Given the description of an element on the screen output the (x, y) to click on. 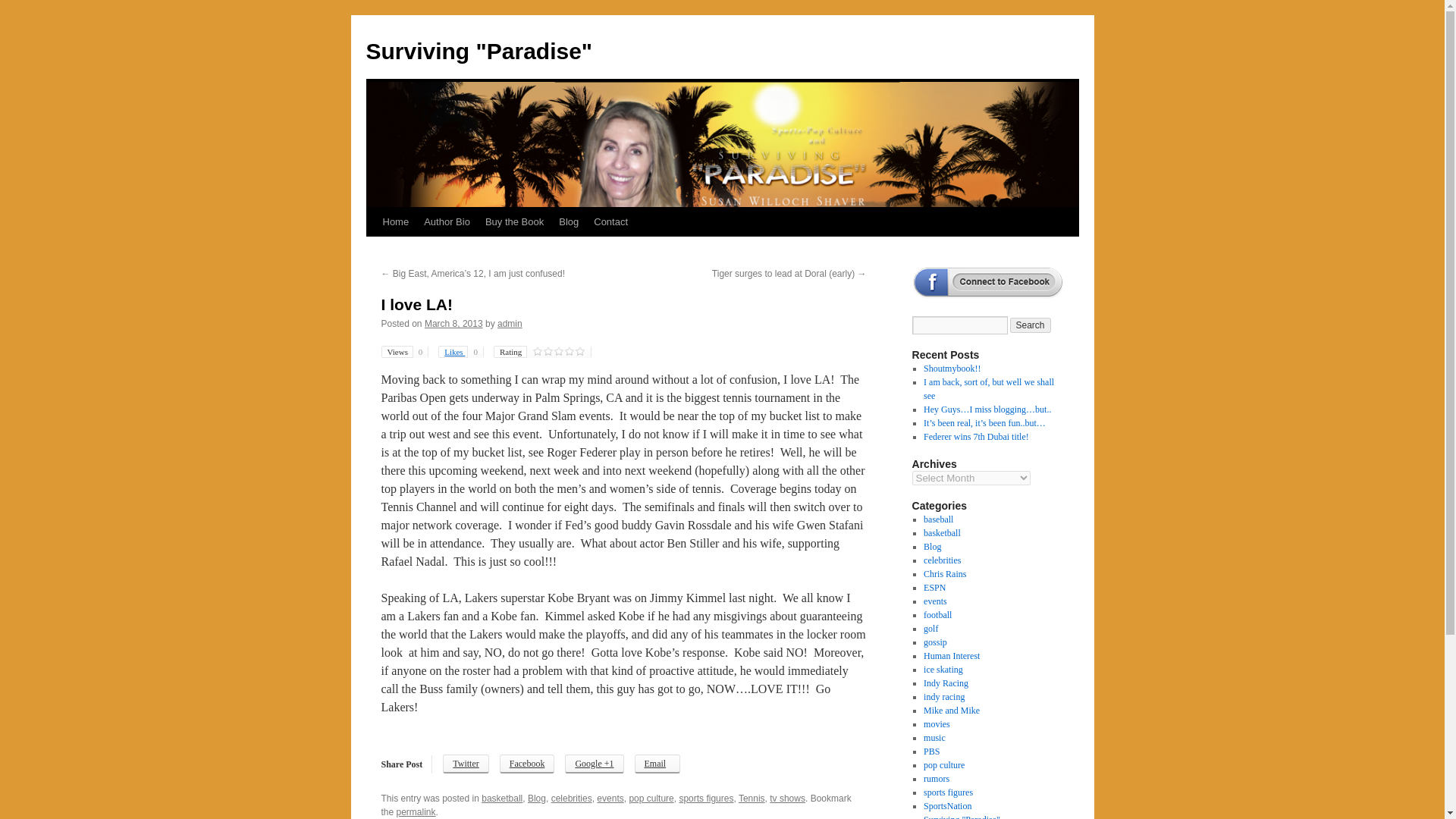
Likes 0 (460, 351)
pop culture (650, 798)
sports figures (705, 798)
Surviving "Paradise" (478, 50)
Twitter (464, 763)
Share by email to a friend (657, 763)
Shoutmybook!! (951, 368)
Federer wins 7th Dubai title! (976, 436)
Search (1030, 324)
Surviving "Paradise" (478, 50)
basketball (941, 532)
Contact (610, 222)
March 8, 2013 (454, 323)
permalink (415, 811)
tv shows (787, 798)
